Given the description of an element on the screen output the (x, y) to click on. 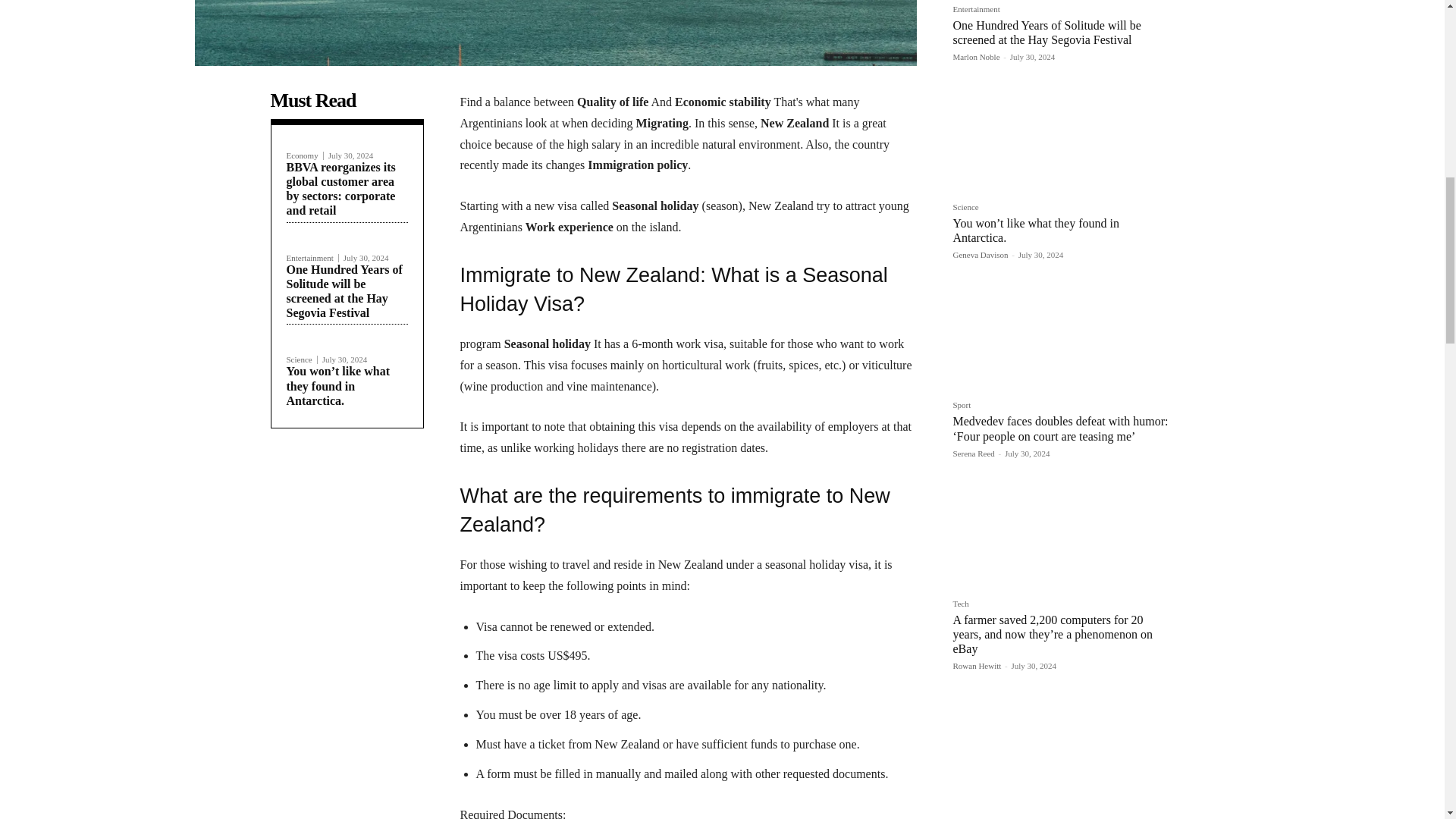
Economy (304, 155)
Entertainment (312, 257)
Science (301, 359)
